Given the description of an element on the screen output the (x, y) to click on. 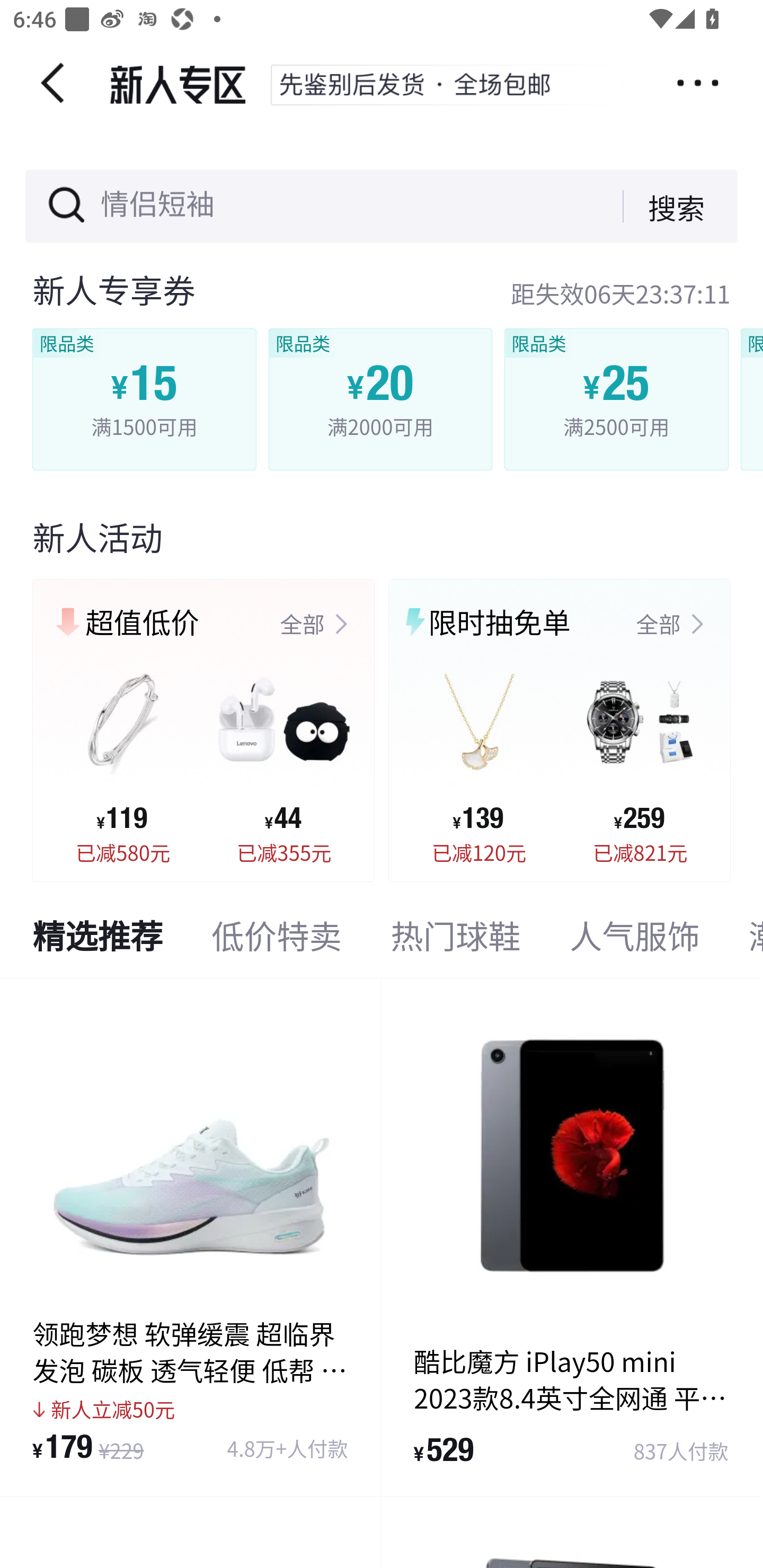
洞洞鞋 情侣短袖 (206, 206)
搜索 (663, 205)
¥ 15 满1500可用 限品类 (144, 399)
¥ 20 满2000可用 限品类 (379, 399)
¥ 25 满2500可用 限品类 (616, 399)
resize,w_200 ¥119 已减580元 (122, 756)
resize,w_200 ¥44 已减355元 (283, 756)
resize,w_200 ¥139 已减120元 (479, 756)
resize,w_200 ¥259 已减821元 (639, 756)
精选推荐 (98, 939)
低价特卖 (276, 939)
热门球鞋 (455, 939)
人气服饰 (635, 939)
